Given the description of an element on the screen output the (x, y) to click on. 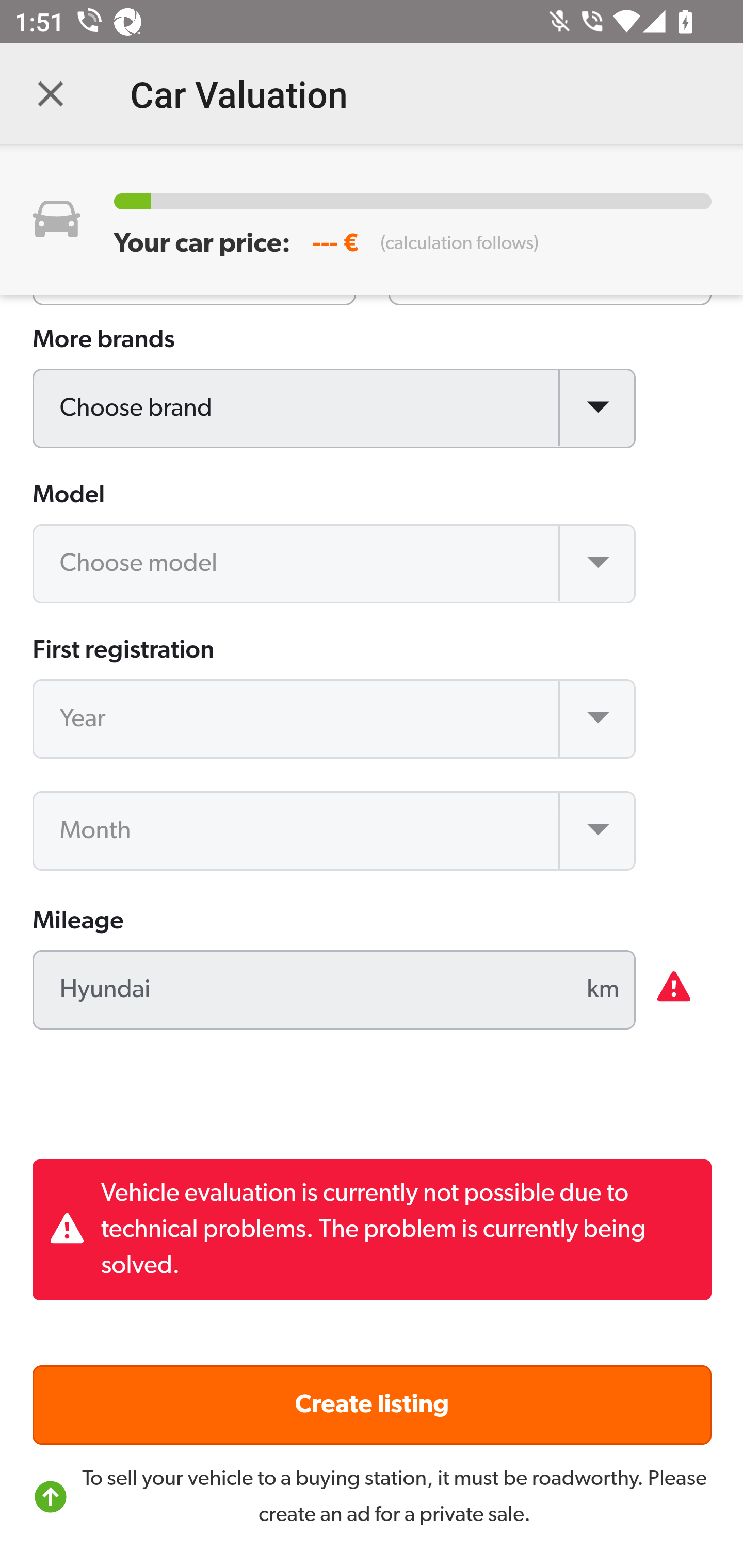
Navigate up (50, 93)
Choose brand (334, 409)
Choose model (334, 564)
Year (334, 720)
Month (334, 831)
Hyundai (334, 991)
Create listing (372, 1405)
